Given the description of an element on the screen output the (x, y) to click on. 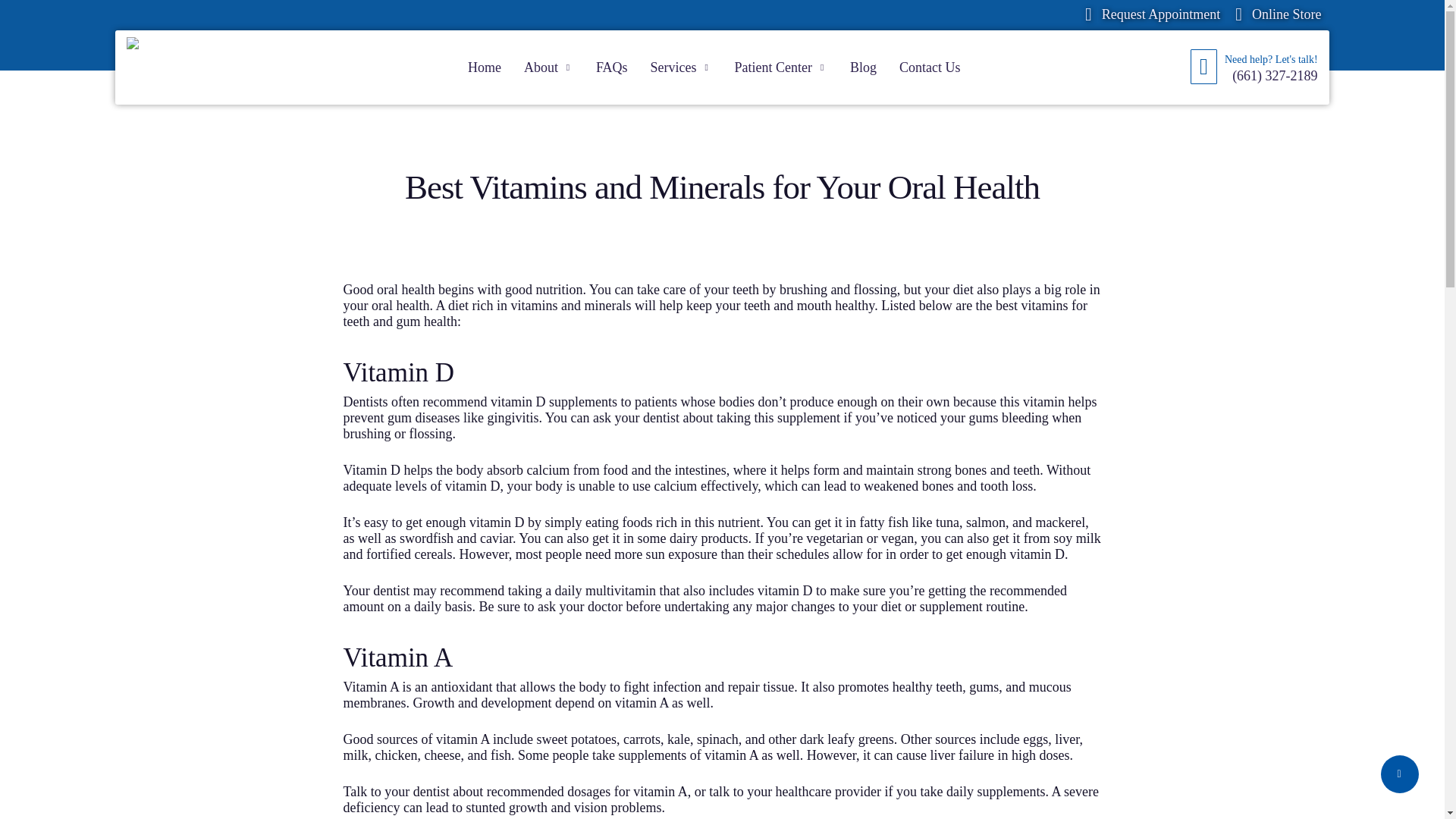
FAQs (612, 67)
About (548, 67)
Services (681, 67)
Online Store (1277, 14)
Request Appointment (1152, 14)
Home (484, 67)
